Given the description of an element on the screen output the (x, y) to click on. 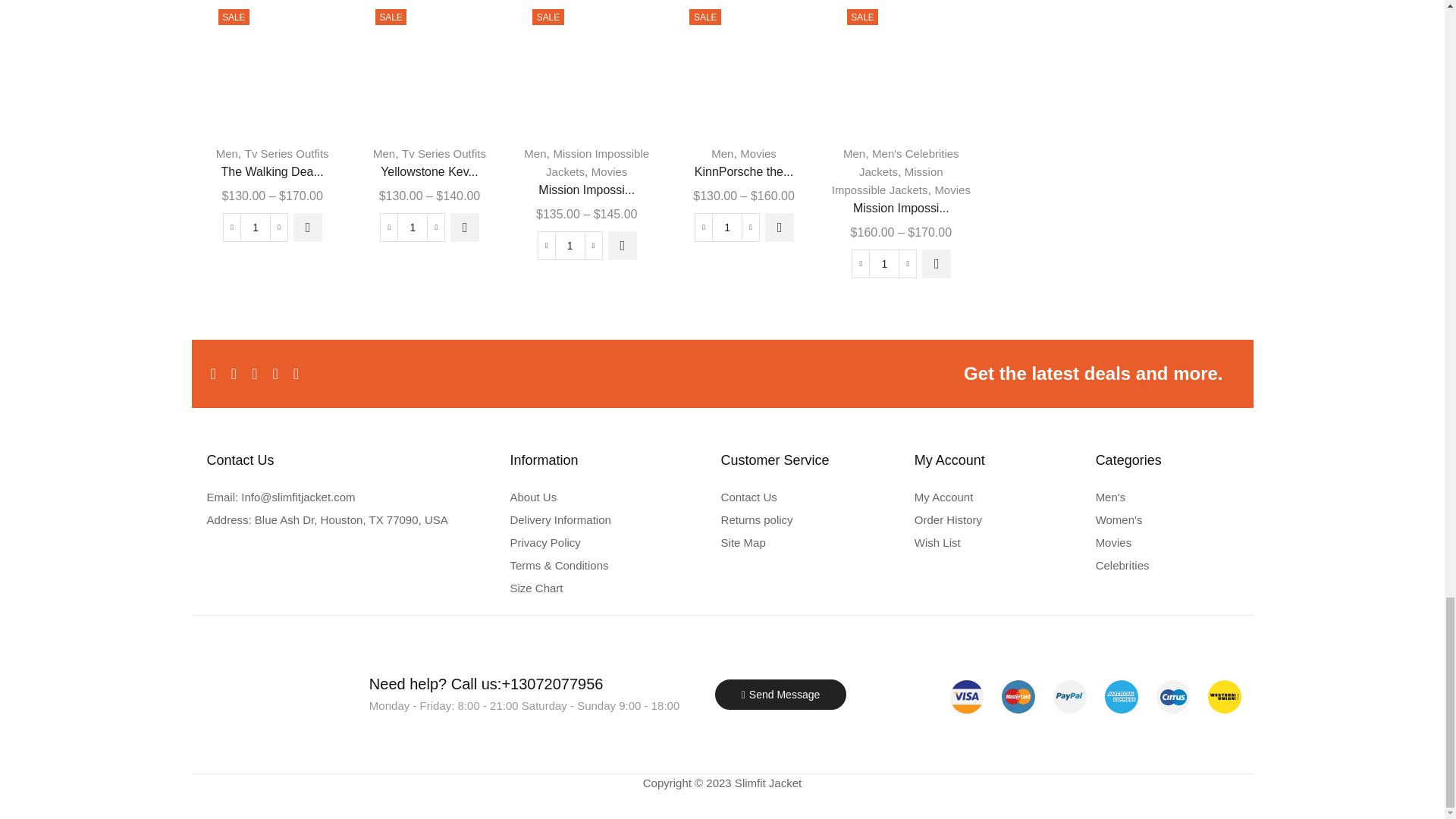
1 (727, 226)
1 (883, 263)
1 (411, 226)
1 (570, 245)
1 (255, 226)
